Given the description of an element on the screen output the (x, y) to click on. 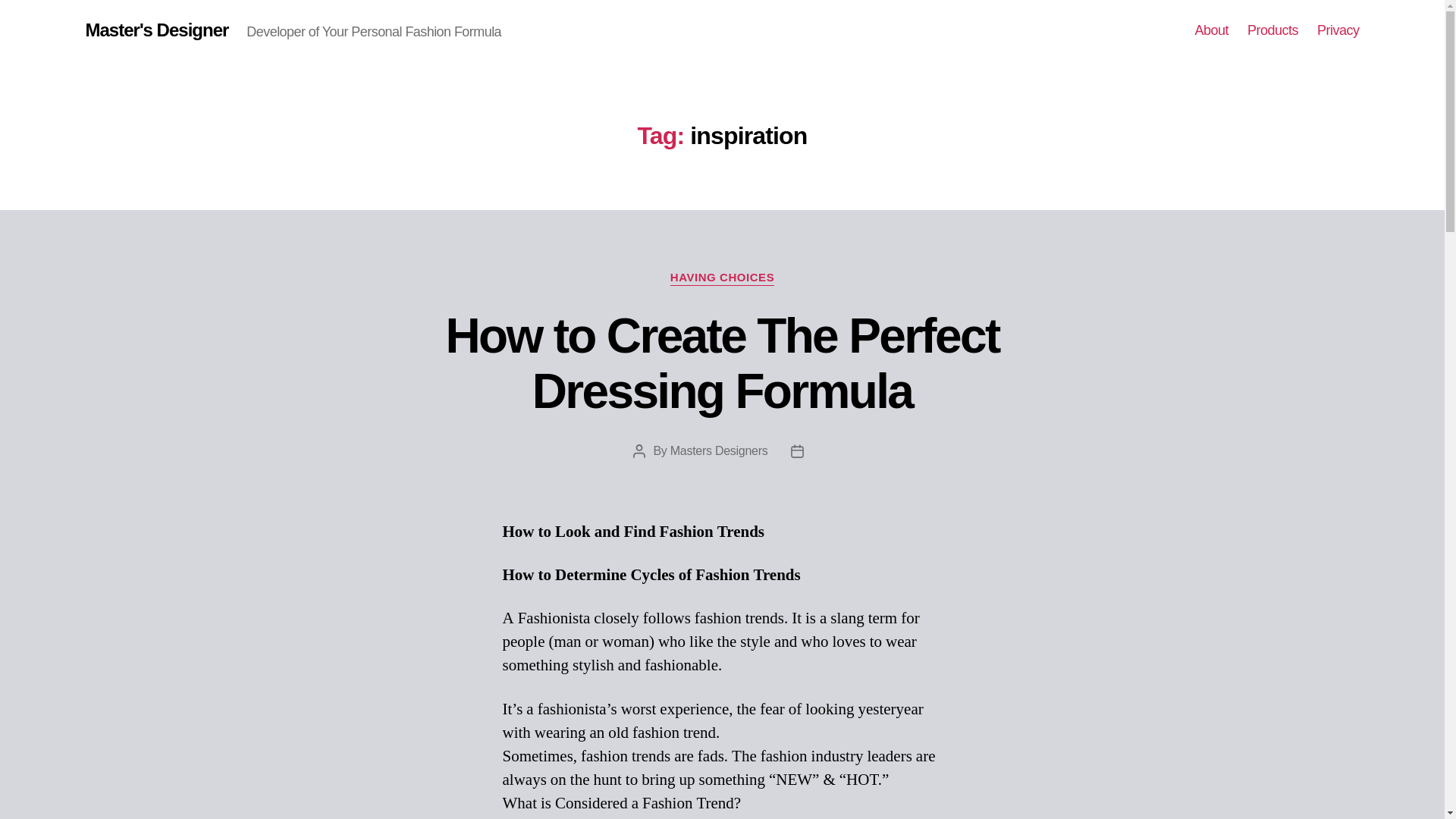
HAVING CHOICES (721, 278)
About (1210, 30)
Masters Designers (718, 450)
Master's Designer (156, 30)
Products (1272, 30)
Privacy (1338, 30)
How to Create The Perfect Dressing Formula (721, 363)
